Given the description of an element on the screen output the (x, y) to click on. 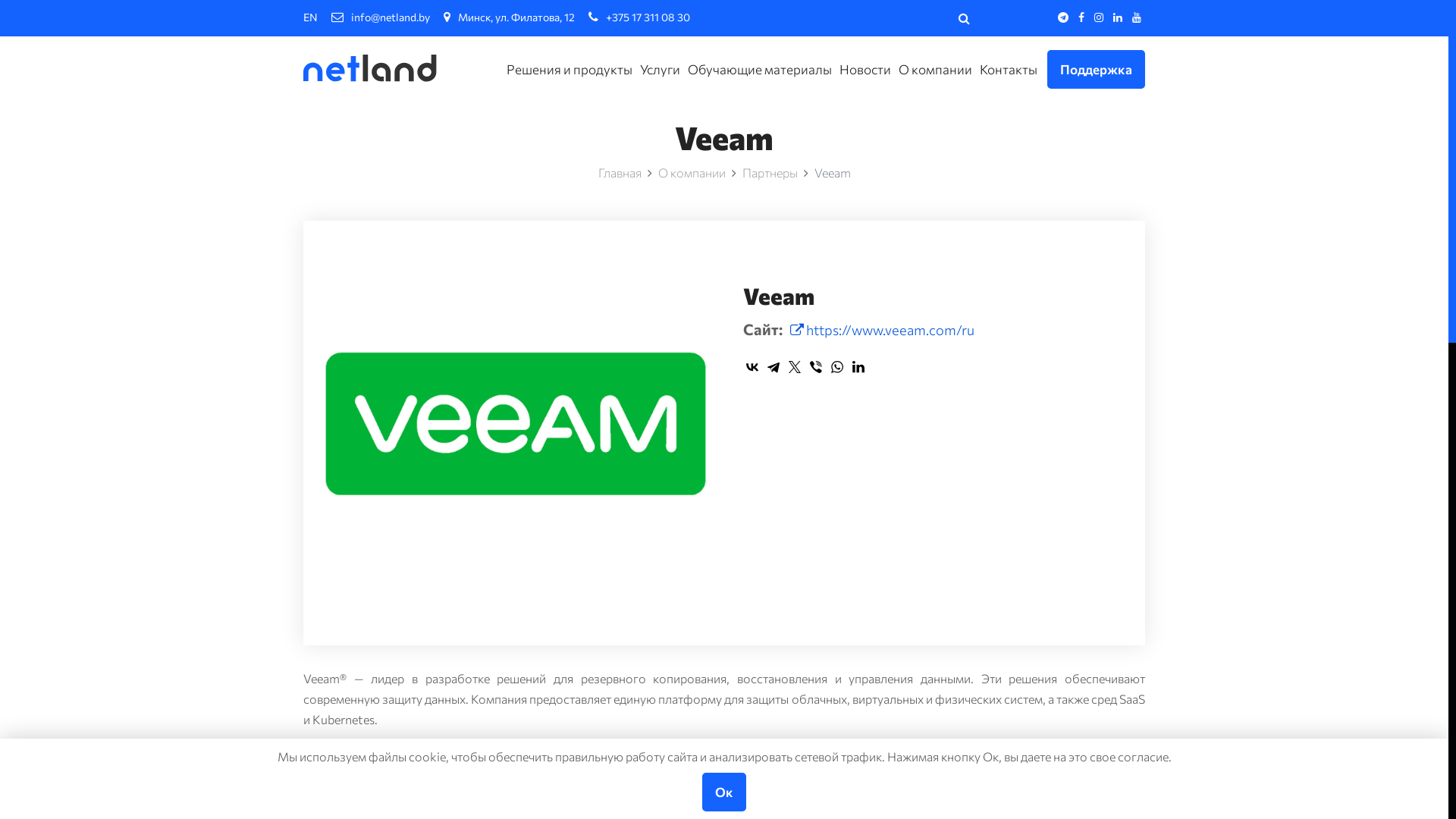
Viber Element type: hover (815, 366)
info@netland.by Element type: text (380, 16)
Telegram Element type: hover (773, 366)
EN Element type: text (310, 16)
Twitter Element type: hover (794, 366)
WhatsApp Element type: hover (837, 366)
+375 17 311 08 30 Element type: text (639, 16)
https://www.veeam.com/ru Element type: text (882, 329)
LinkedIn Element type: hover (858, 366)
